Given the description of an element on the screen output the (x, y) to click on. 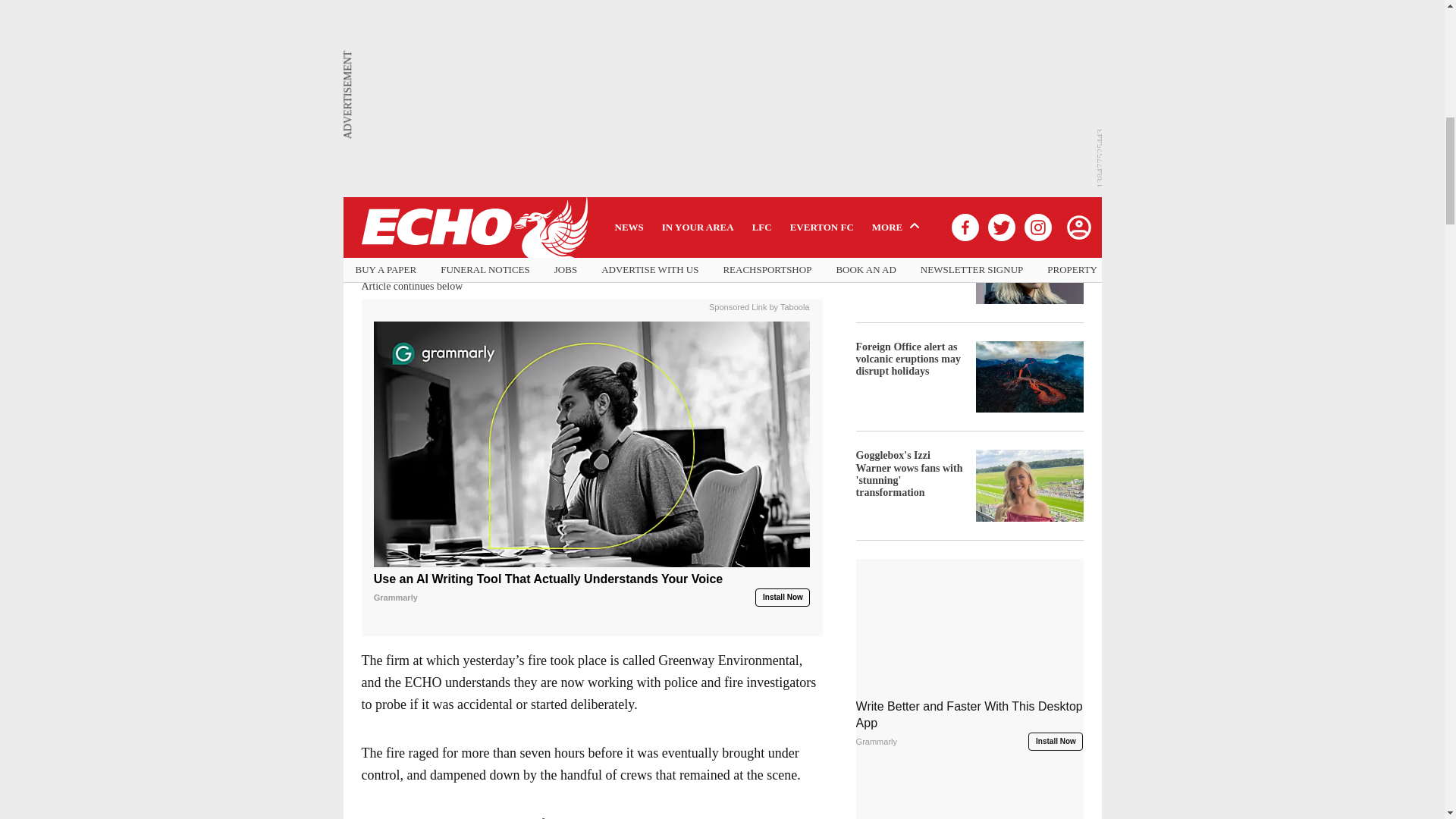
Kirkdale border (518, 225)
Use an AI Writing Tool That Actually Understands Your Voice (592, 444)
Stanley Road, Bootle (583, 214)
Use an AI Writing Tool That Actually Understands Your Voice (592, 588)
Sponsored Link (738, 305)
by Taboola (788, 305)
